Given the description of an element on the screen output the (x, y) to click on. 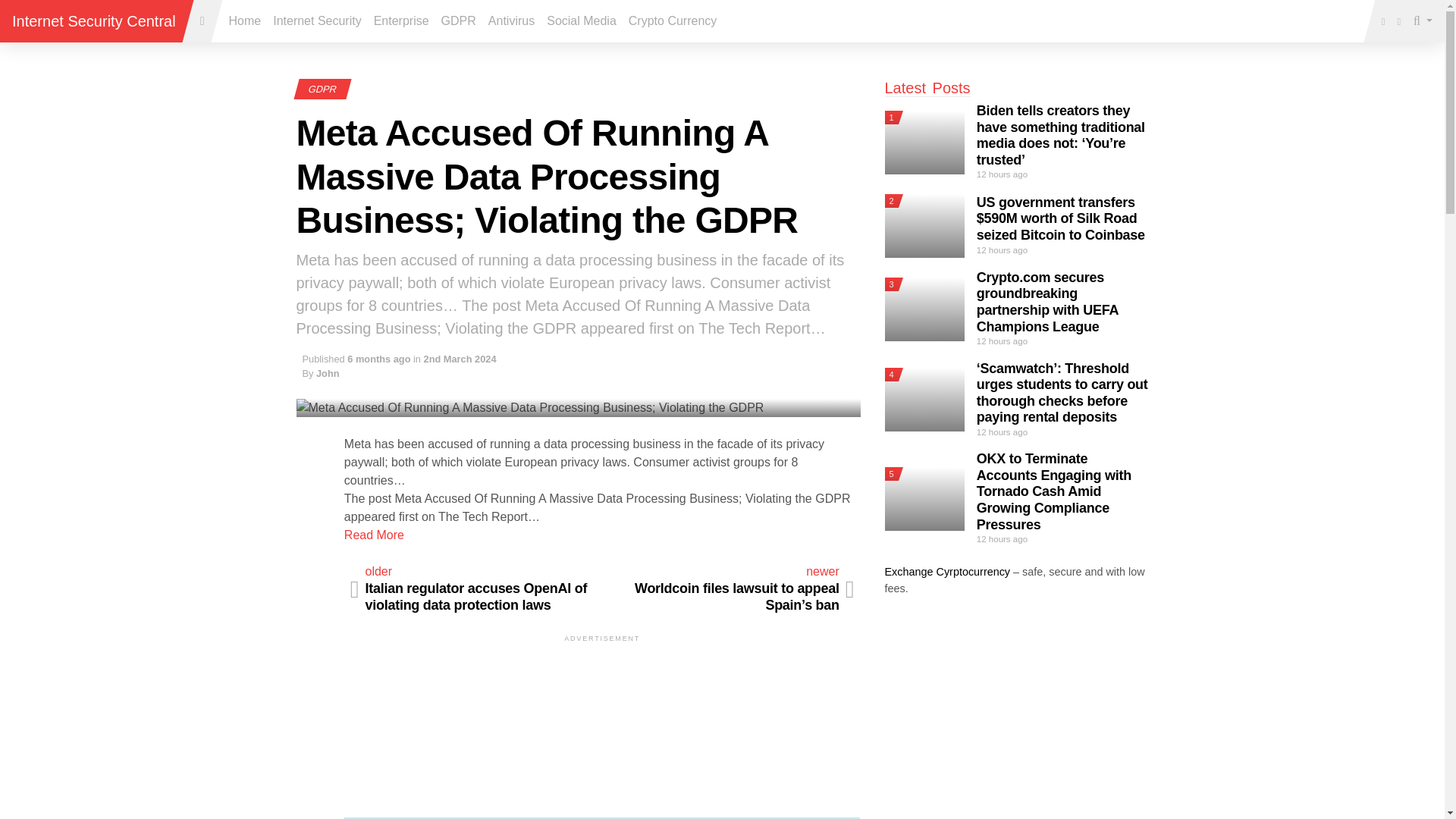
Posts by John (327, 373)
Read More (373, 534)
Enterprise (401, 20)
Social Media (581, 20)
Antivirus (510, 20)
John (327, 373)
GDPR (320, 89)
Internet Security Central (93, 20)
Internet Security (317, 20)
